Given the description of an element on the screen output the (x, y) to click on. 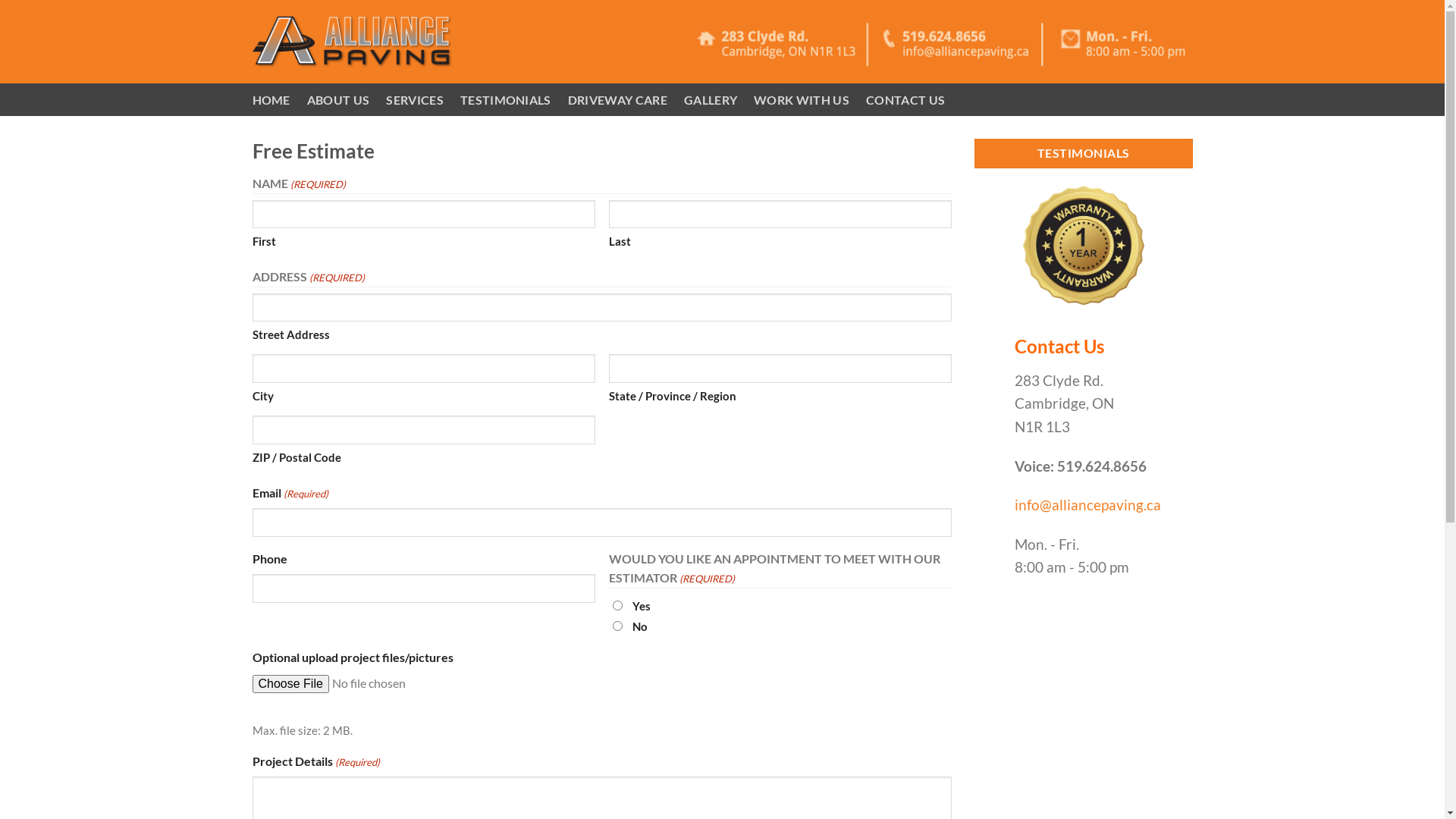
TESTIMONIALS Element type: text (505, 99)
CONTACT US Element type: text (905, 99)
ABOUT US Element type: text (338, 99)
SERVICES Element type: text (414, 99)
Aliance Paving Element type: hover (351, 41)
HOME Element type: text (270, 99)
GALLERY Element type: text (710, 99)
info@alliancepaving.ca Element type: text (1087, 504)
TESTIMONIALS Element type: text (1083, 153)
WORK WITH US Element type: text (801, 99)
DRIVEWAY CARE Element type: text (617, 99)
